Given the description of an element on the screen output the (x, y) to click on. 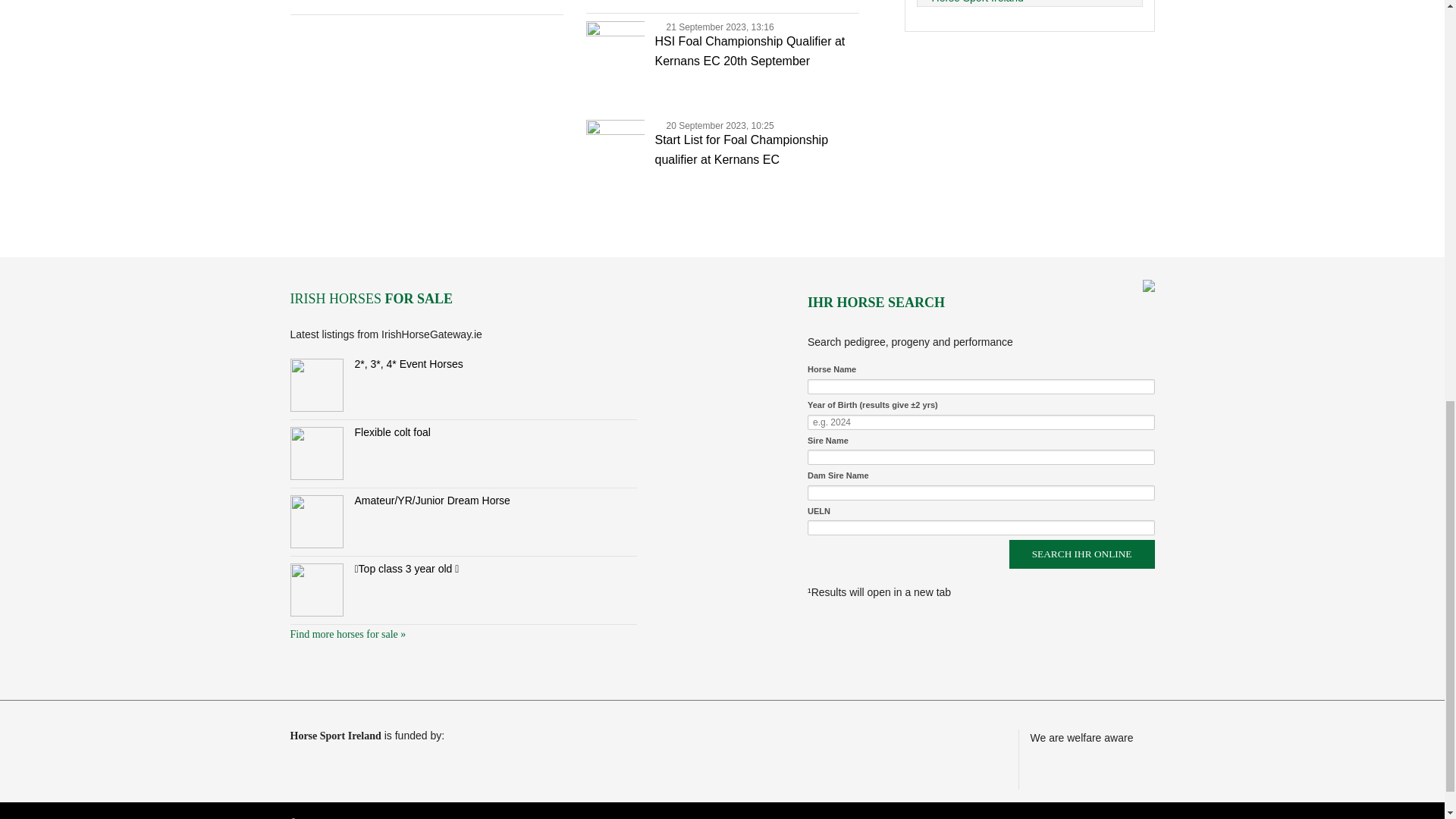
Search IHR Online (1081, 553)
